Given the description of an element on the screen output the (x, y) to click on. 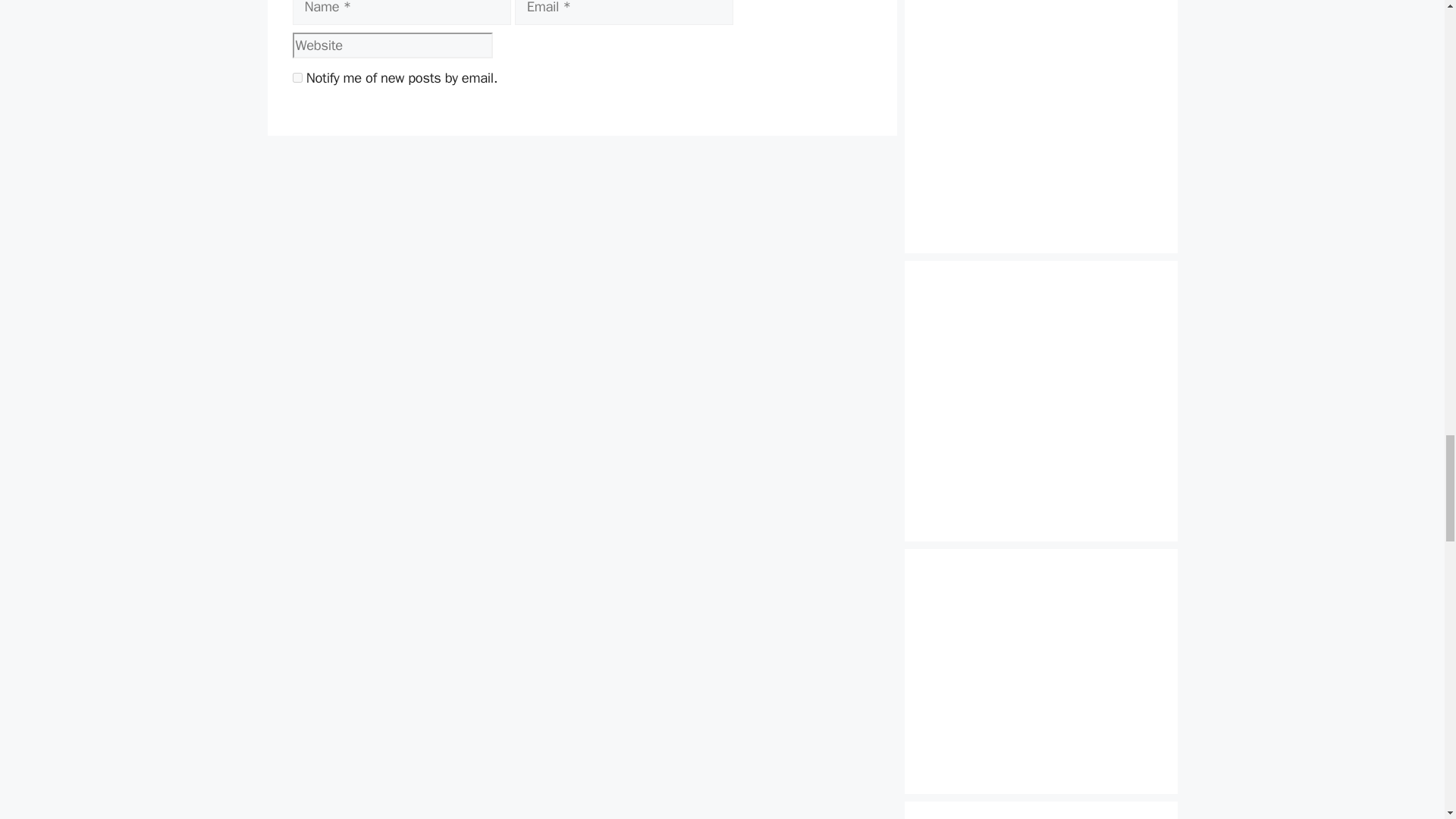
subscribe (297, 77)
